Given the description of an element on the screen output the (x, y) to click on. 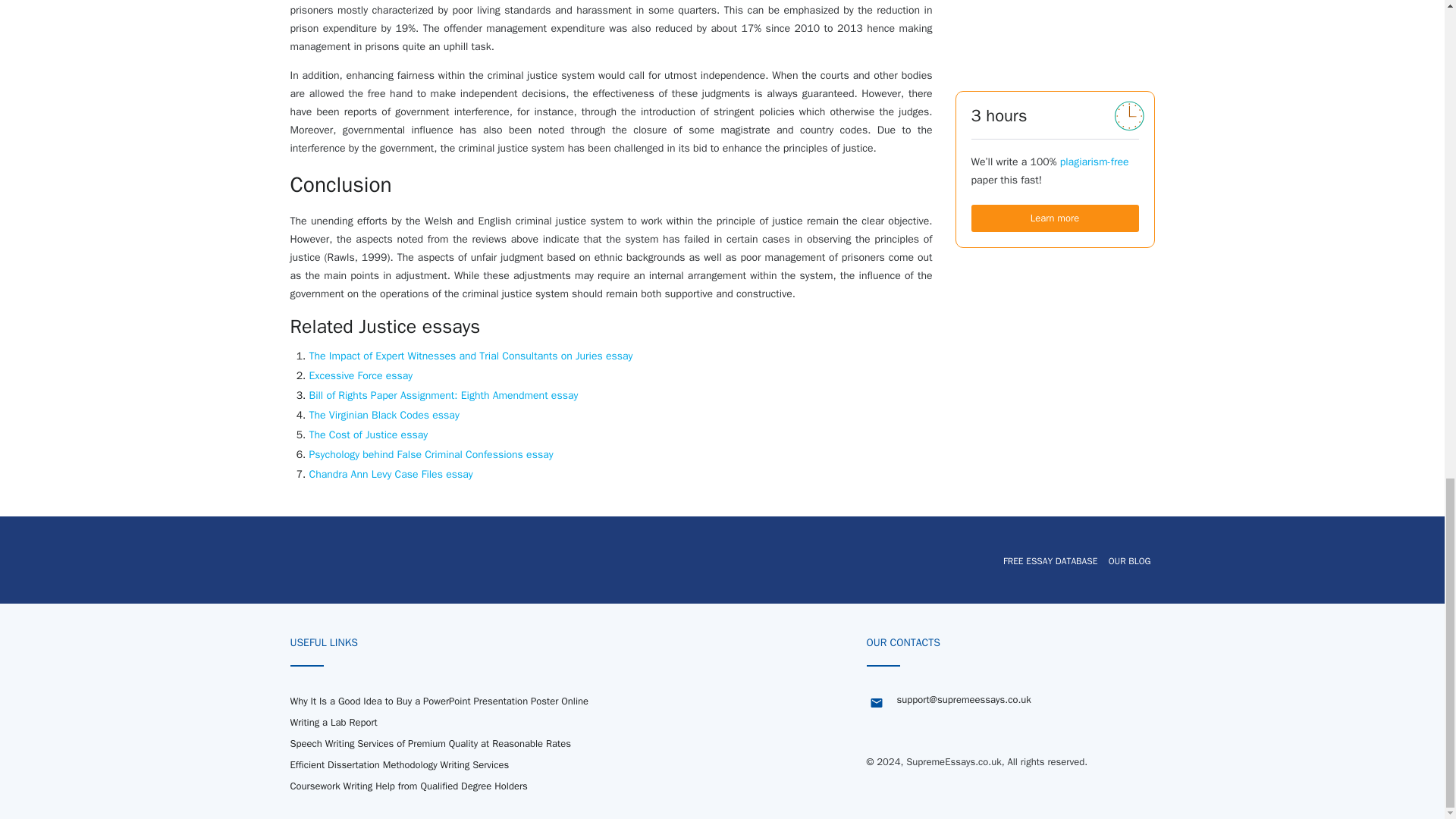
Supremeessays.co.uk (380, 559)
